Given the description of an element on the screen output the (x, y) to click on. 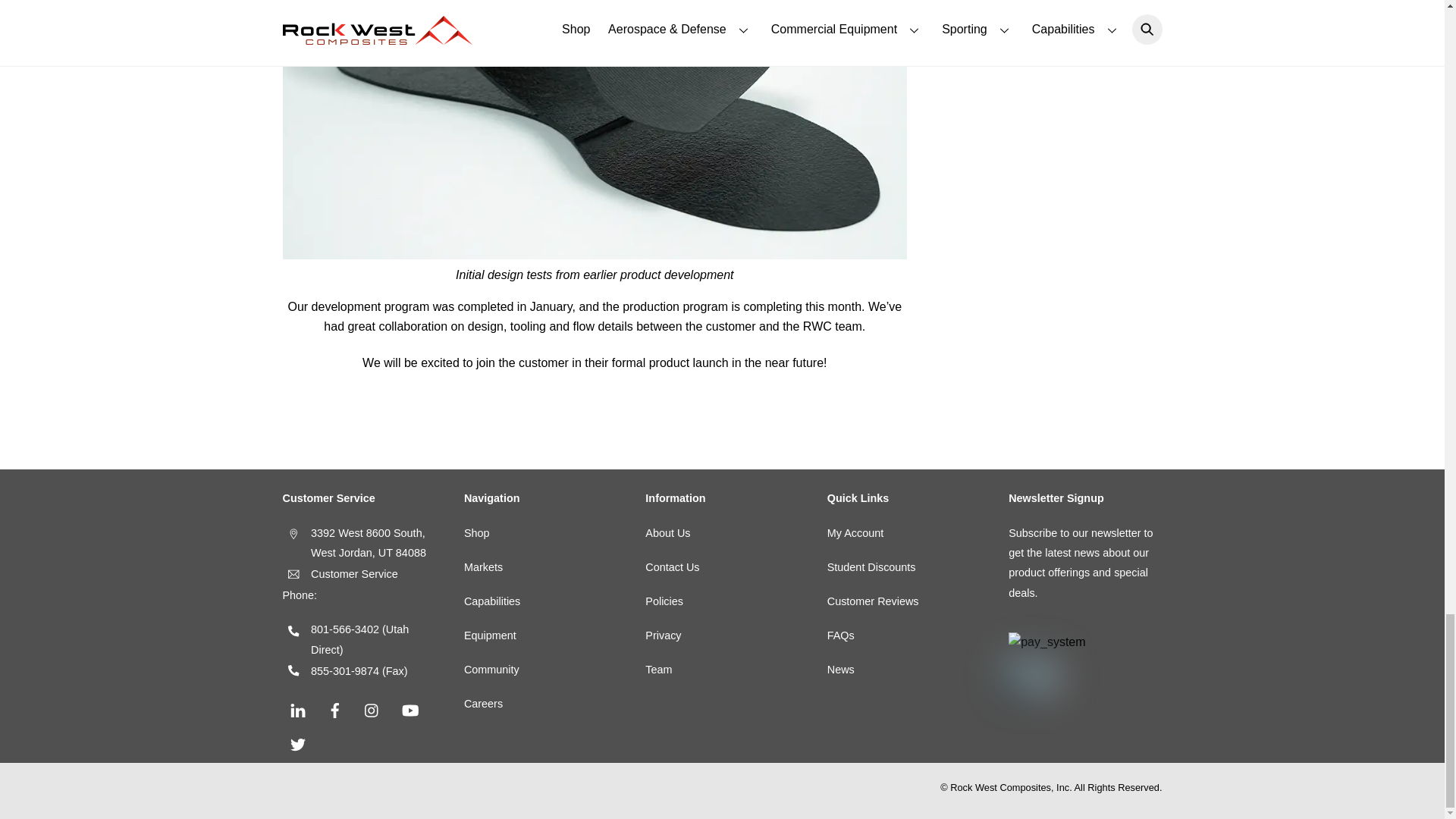
Contact Us (671, 567)
1HOME (483, 567)
Capabilities (491, 601)
About Us (667, 532)
Teams (658, 669)
Equipment (490, 635)
